Given the description of an element on the screen output the (x, y) to click on. 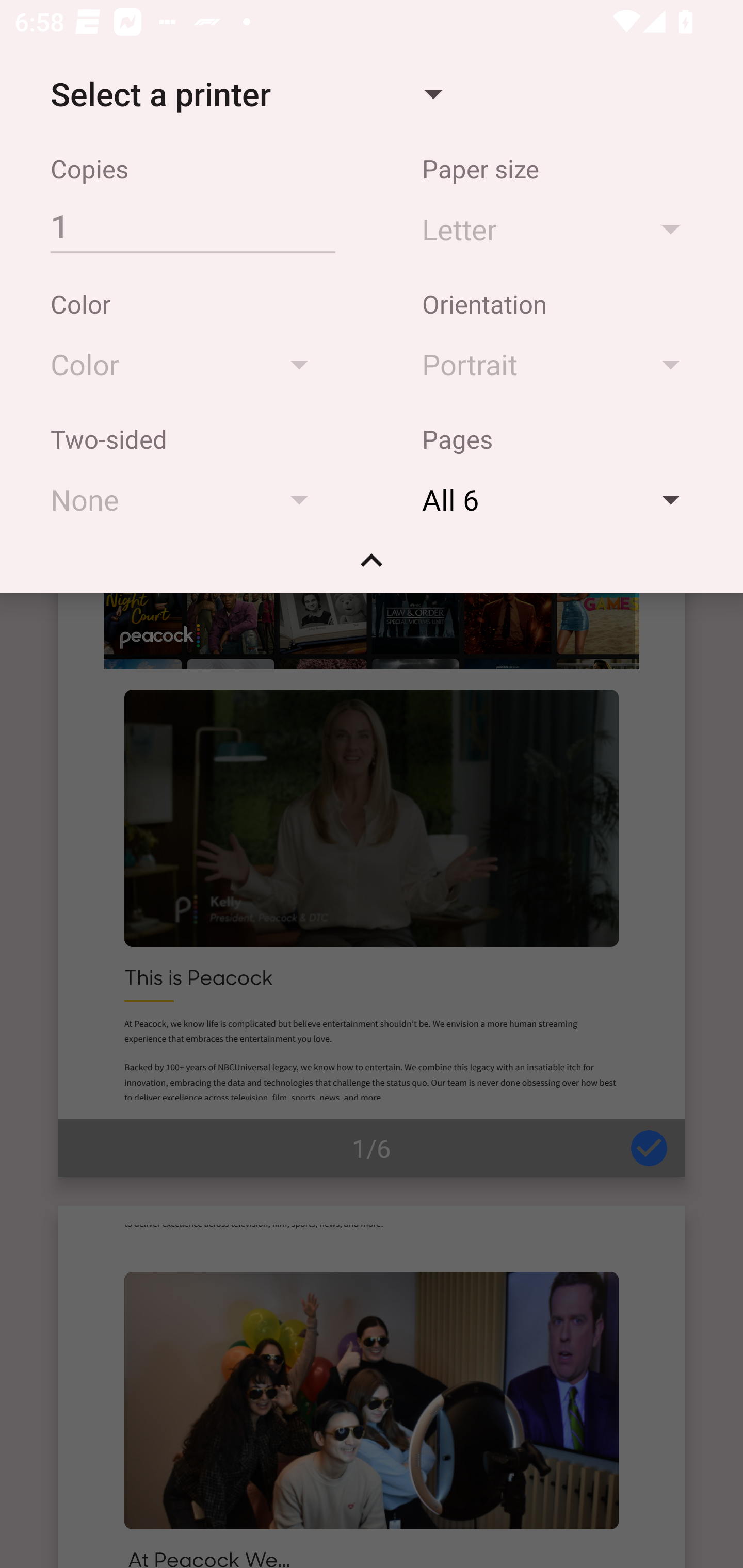
Select a printer (245, 93)
1 (192, 225)
Letter (560, 228)
Color (189, 364)
Portrait (560, 364)
None (189, 499)
All 6 (560, 499)
Collapse handle (371, 567)
